Given the description of an element on the screen output the (x, y) to click on. 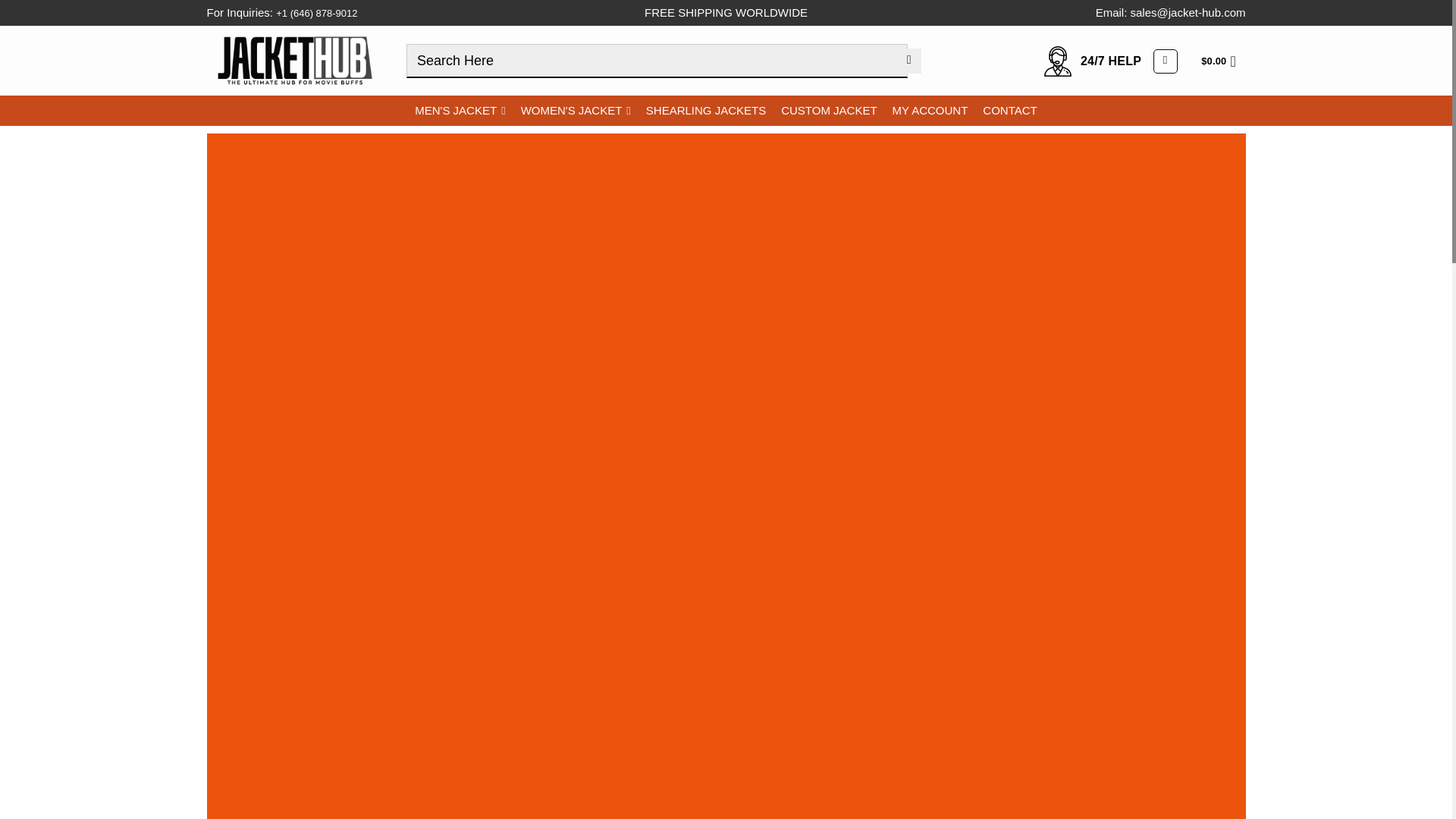
Jacket Hub (294, 60)
Search (908, 60)
Cart (1222, 60)
